Given the description of an element on the screen output the (x, y) to click on. 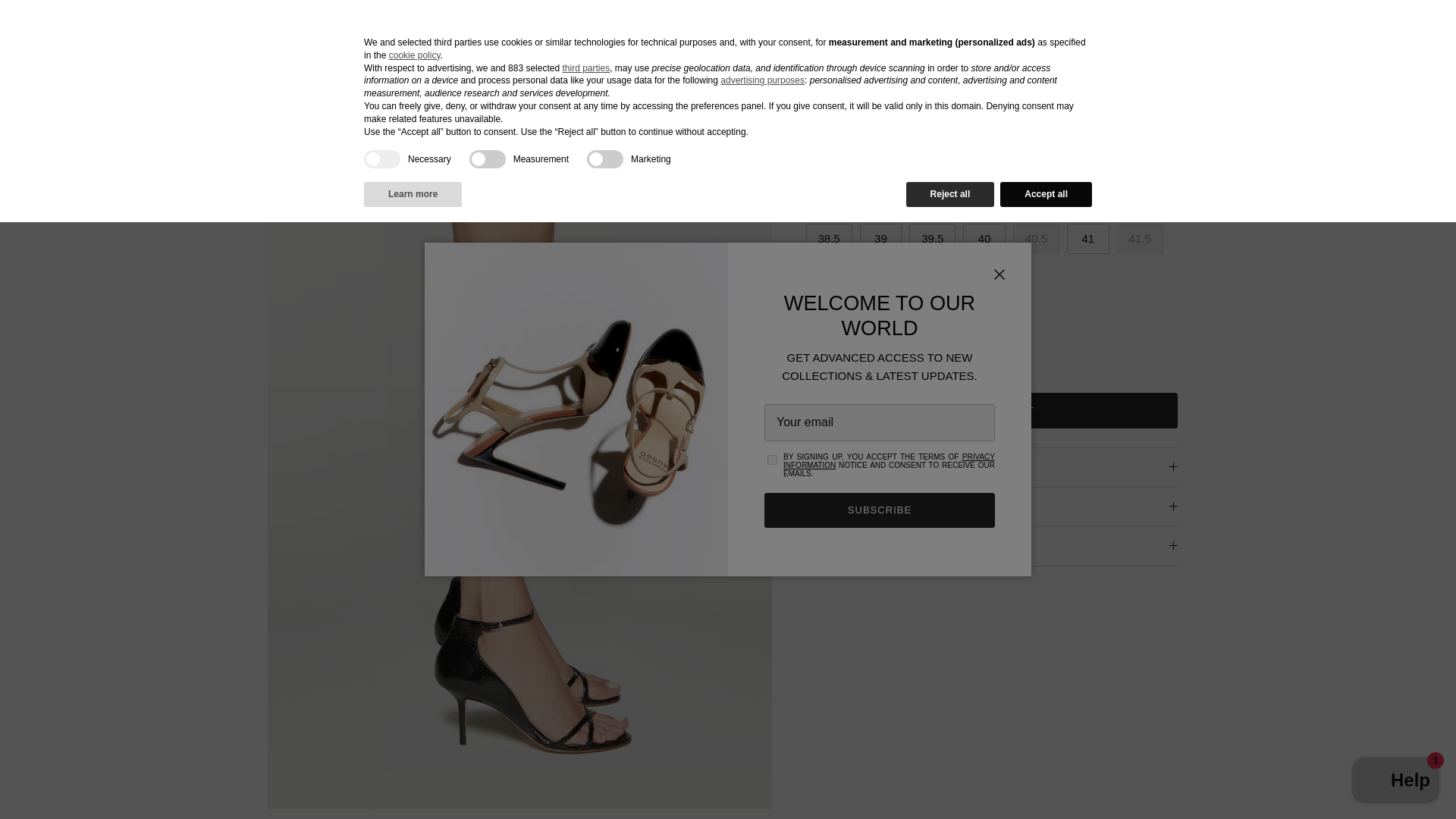
Francesco Russo (721, 31)
ANTHOLOGY (296, 31)
Shopify online store chat (1396, 781)
Sold out (826, 200)
R1S949 (214, 91)
Account (1319, 31)
Sold out (982, 200)
true (382, 158)
SHOP (136, 31)
Sold out (1036, 238)
Cart (1389, 31)
HOME (66, 31)
false (486, 158)
Home (172, 91)
false (604, 158)
